Given the description of an element on the screen output the (x, y) to click on. 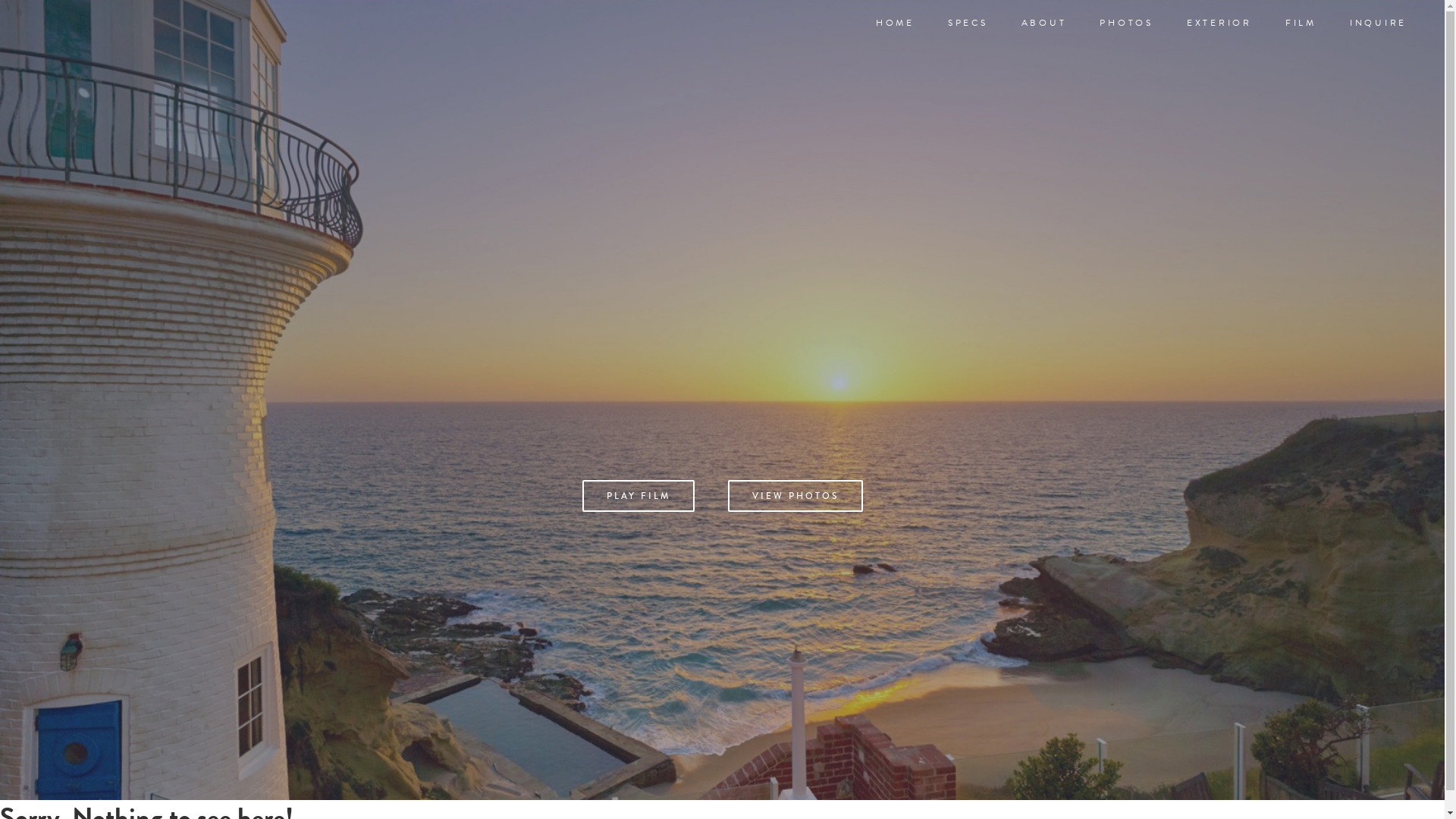
EXTERIOR Element type: text (1219, 28)
PHOTOS Element type: text (1126, 28)
INQUIRE Element type: text (1377, 28)
PLAY FILM Element type: text (638, 495)
ABOUT Element type: text (1043, 28)
SPECS Element type: text (967, 28)
VIEW PHOTOS Element type: text (795, 495)
FILM Element type: text (1300, 28)
HOME Element type: text (894, 28)
